Given the description of an element on the screen output the (x, y) to click on. 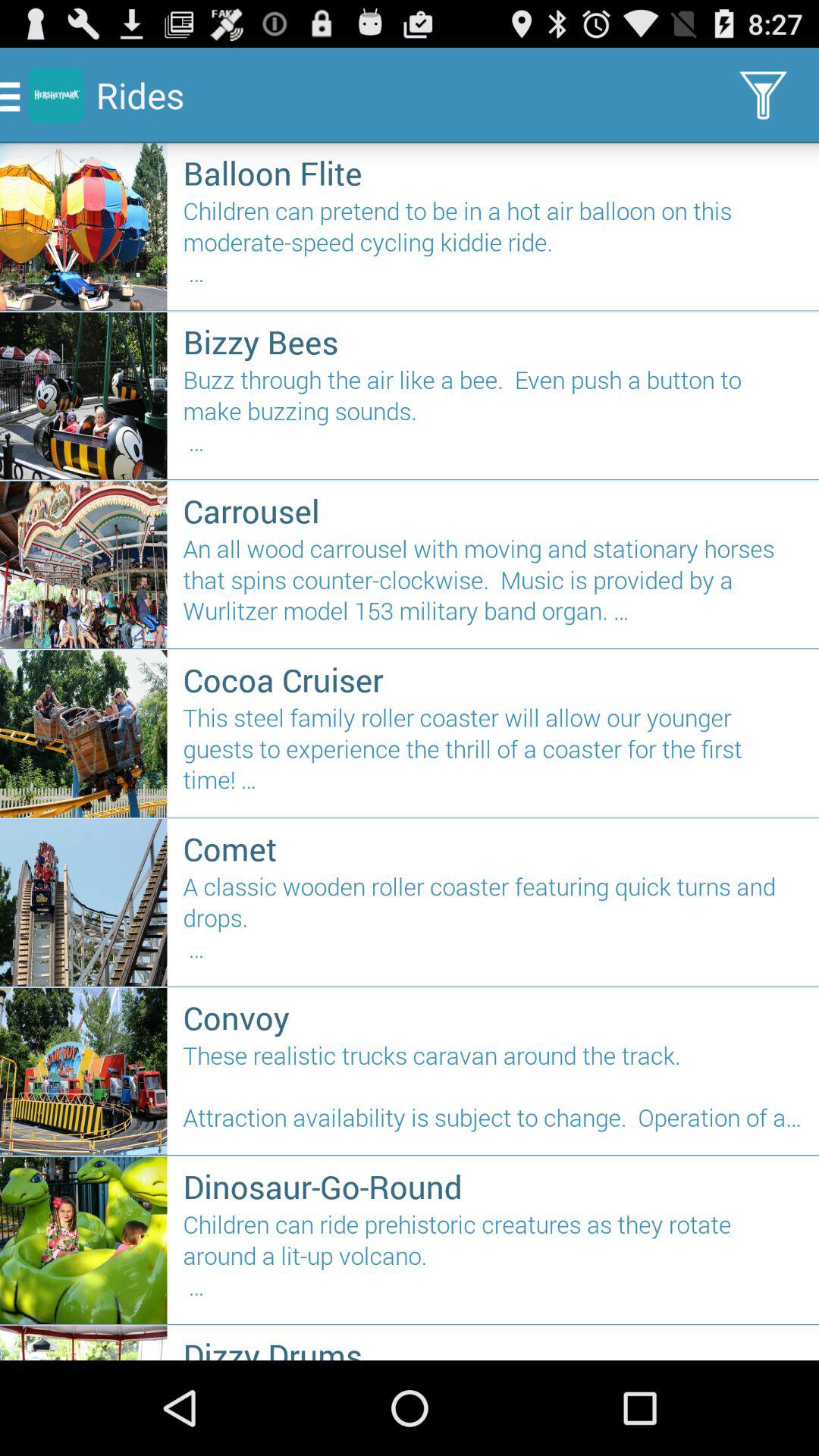
click icon above the carrousel (493, 417)
